Given the description of an element on the screen output the (x, y) to click on. 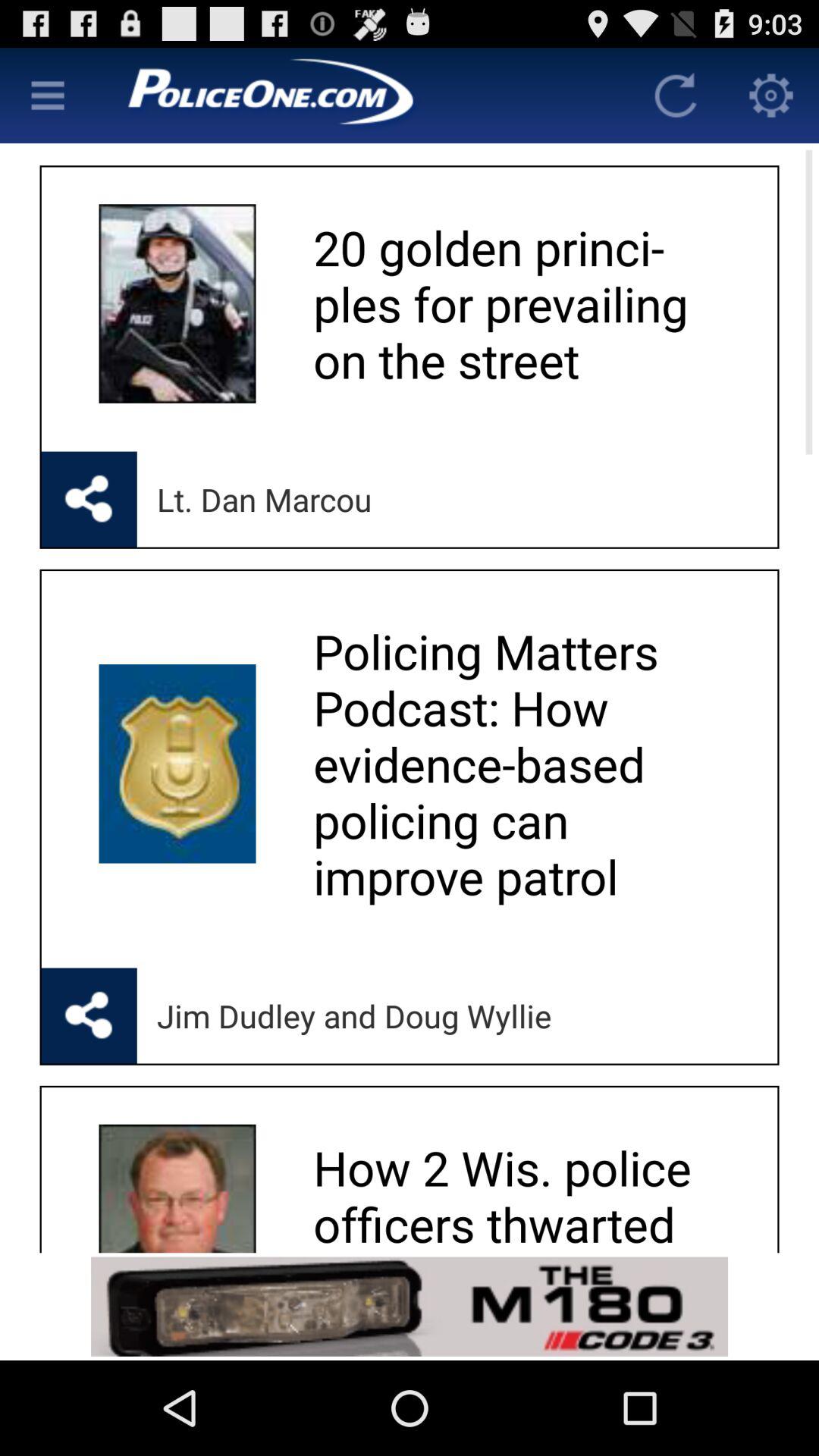
view advertisement in new app (409, 1306)
